Given the description of an element on the screen output the (x, y) to click on. 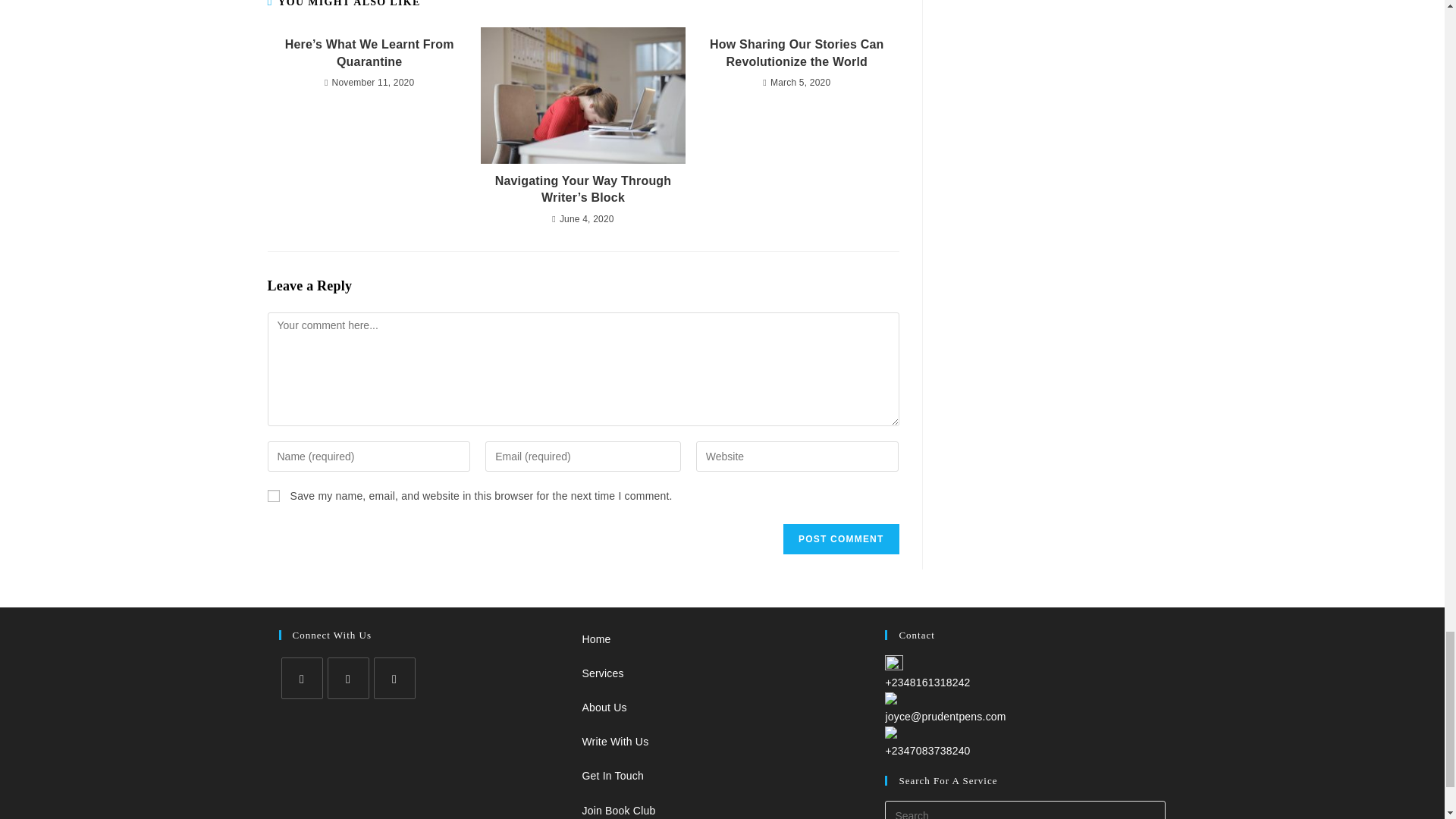
Write With Us (613, 741)
Services (601, 673)
Get In Touch (611, 775)
Post Comment (840, 539)
How Sharing Our Stories Can Revolutionize the World (796, 53)
yes (272, 495)
Home (595, 639)
Join Book Club (617, 810)
Post Comment (840, 539)
About Us (603, 707)
